Given the description of an element on the screen output the (x, y) to click on. 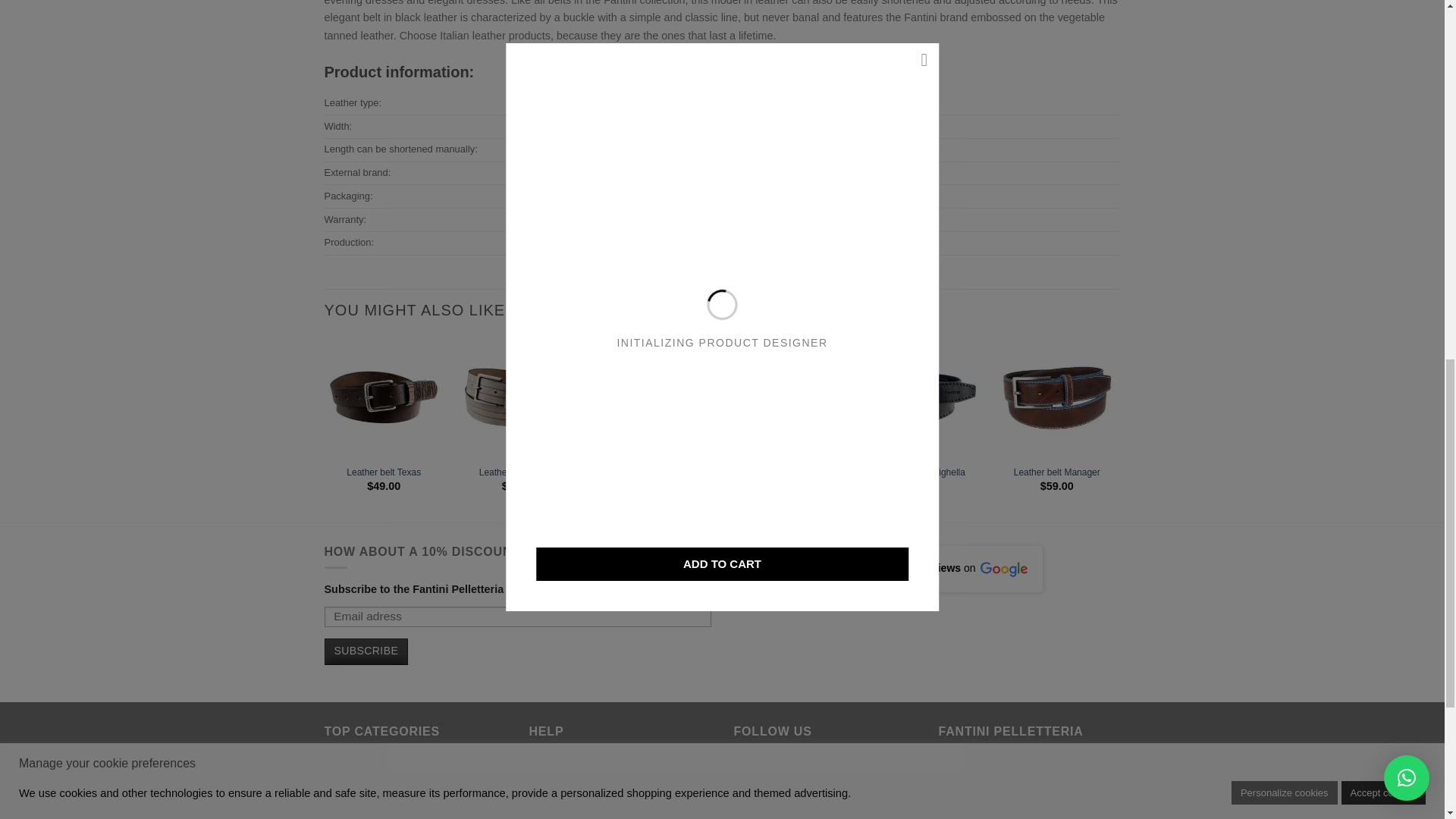
Subscribe (366, 651)
